Given the description of an element on the screen output the (x, y) to click on. 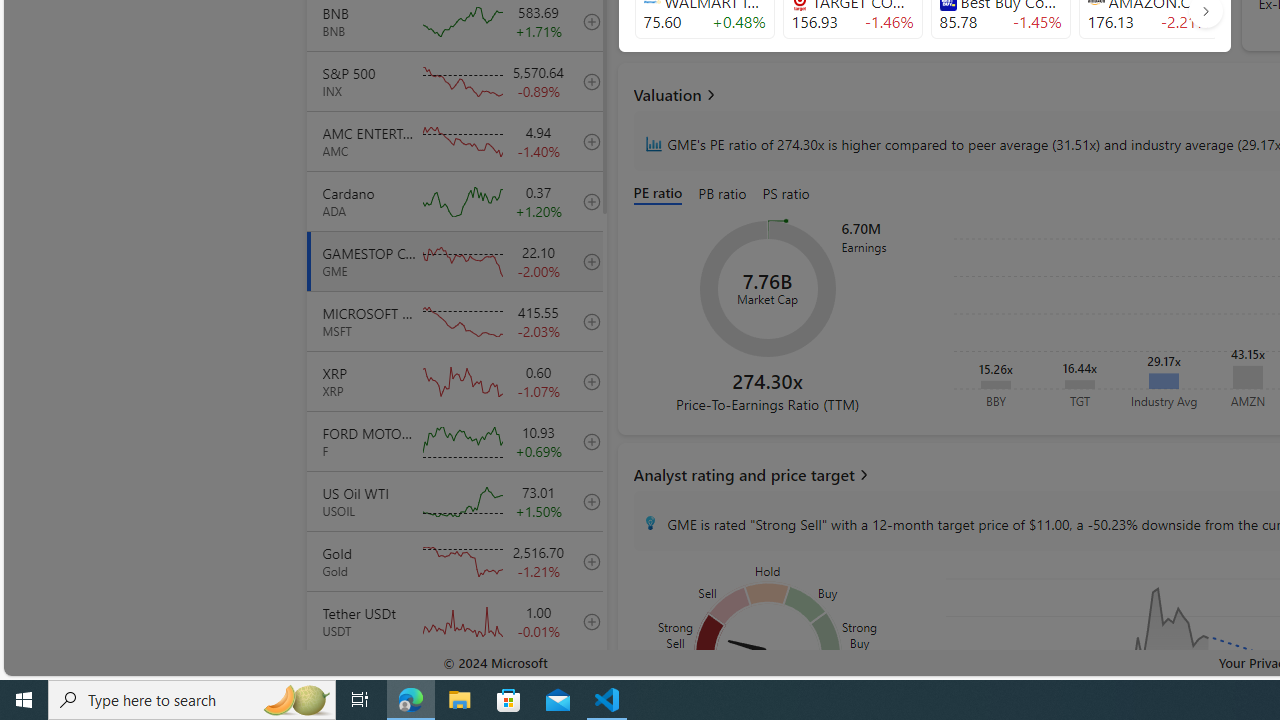
PS ratio (785, 194)
add to your watchlist (586, 681)
